Given the description of an element on the screen output the (x, y) to click on. 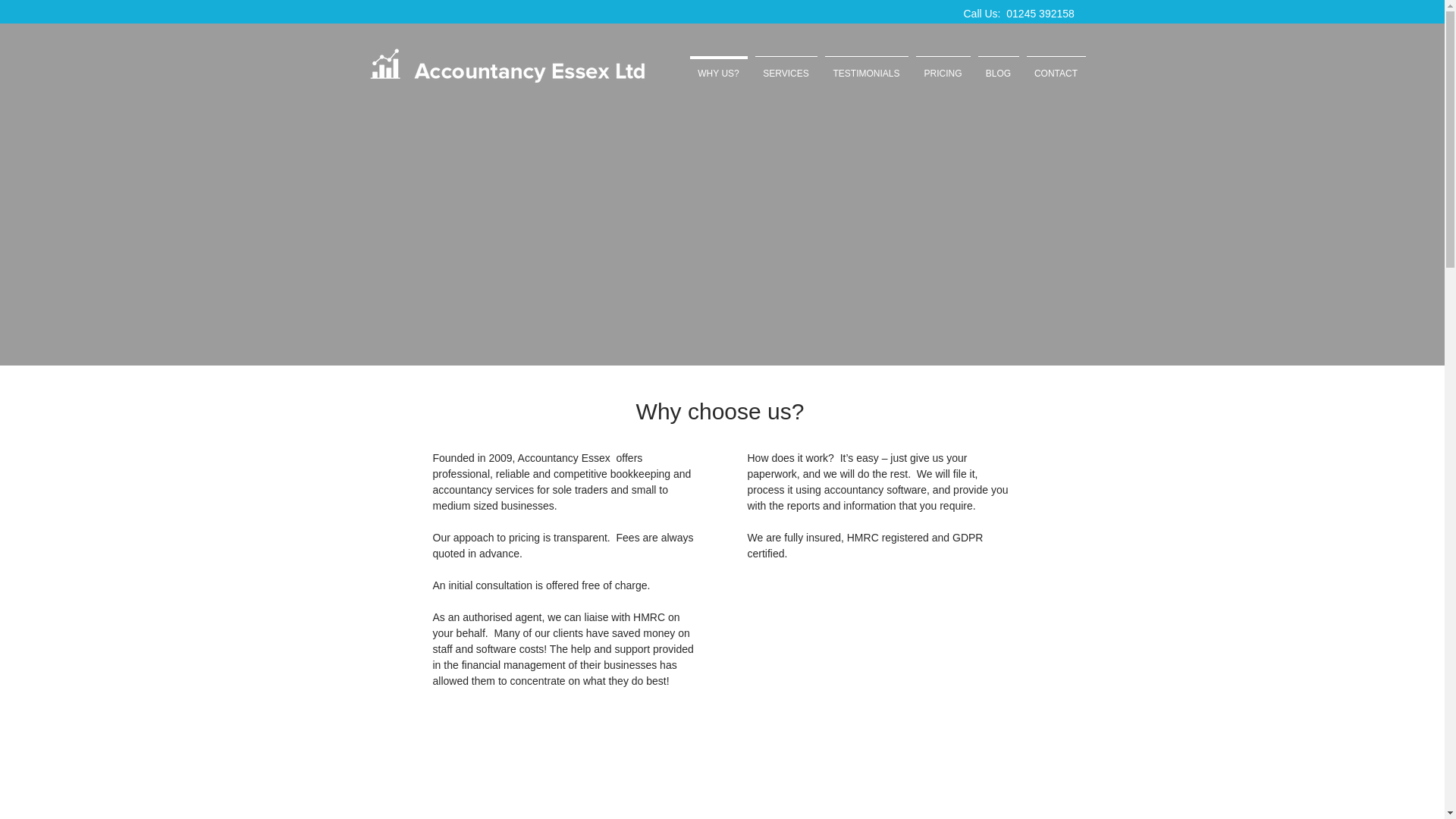
WHY US? (718, 66)
Accountant Essex (506, 65)
TESTIMONIALS (866, 66)
BLOG (998, 66)
SERVICES (786, 66)
PRICING (942, 66)
CONTACT (1055, 66)
